Given the description of an element on the screen output the (x, y) to click on. 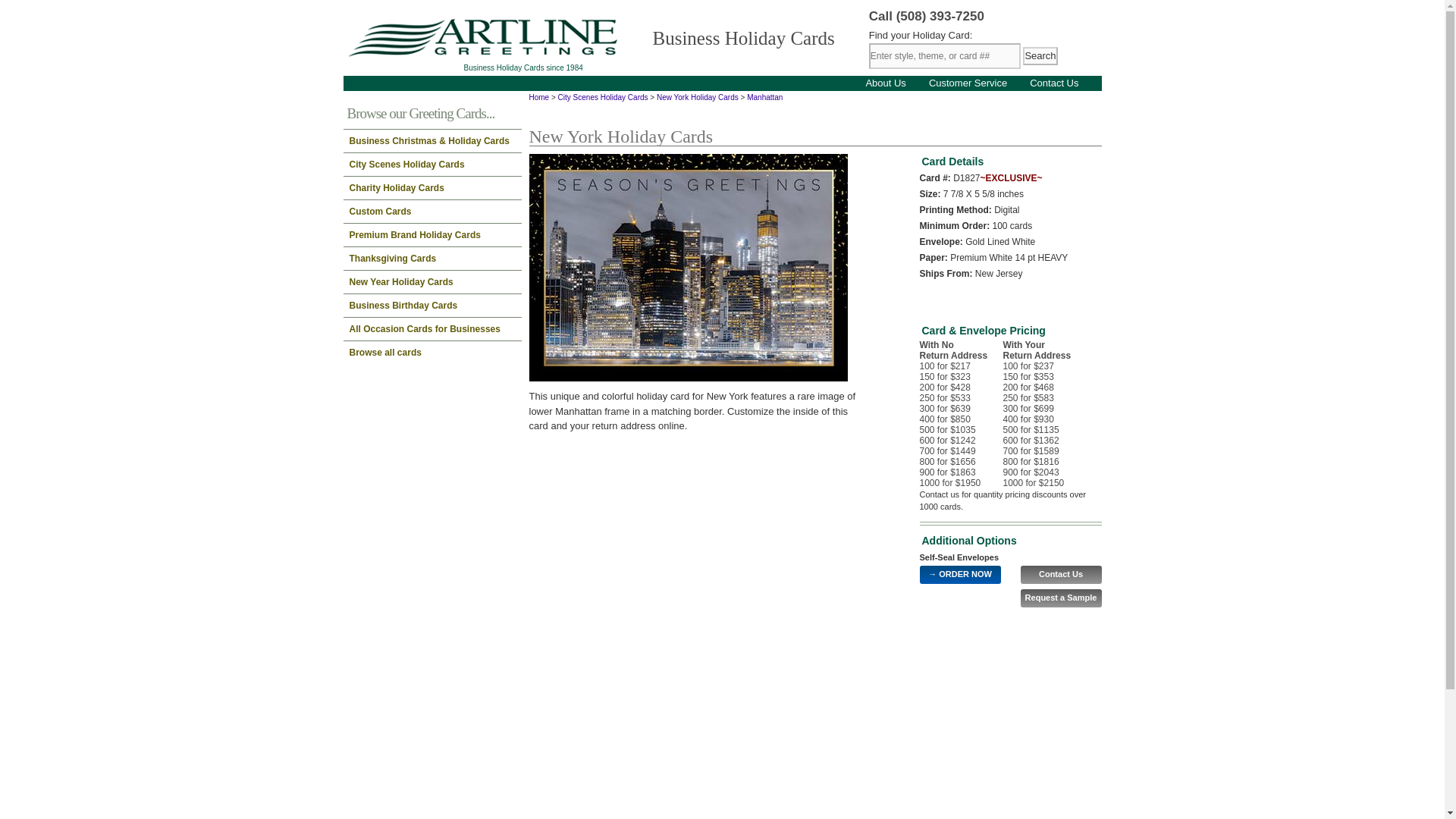
Thanksgiving Cards (431, 258)
Charity Holiday Cards (431, 187)
Contact Us (1053, 82)
City Scenes Holiday Cards (431, 164)
Search (1040, 55)
About Us (884, 82)
Manhattan (688, 267)
Contact Us (1061, 574)
New Year Holiday Cards (431, 282)
City Scenes Holiday Cards (602, 97)
New York Holiday Cards (697, 97)
All Occasion Cards for Businesses (431, 328)
Self-Seal Envelopes (958, 556)
Browse all cards (431, 352)
Request a Sample (1061, 597)
